Given the description of an element on the screen output the (x, y) to click on. 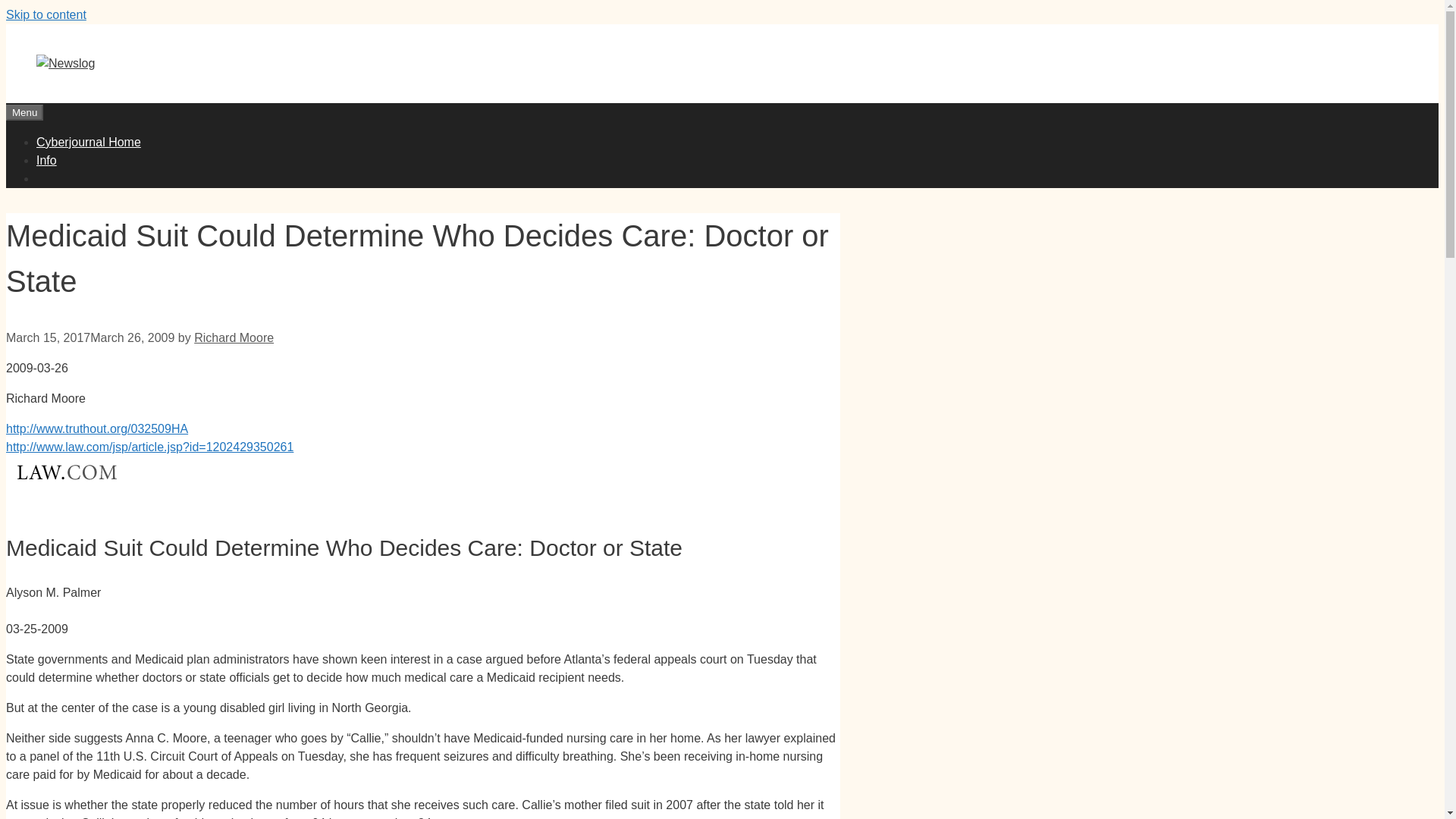
Cyberjournal Home (88, 141)
View all posts by Richard Moore (233, 337)
Skip to content (45, 14)
Richard Moore (233, 337)
Menu (24, 112)
Skip to content (45, 14)
Info (46, 160)
